Given the description of an element on the screen output the (x, y) to click on. 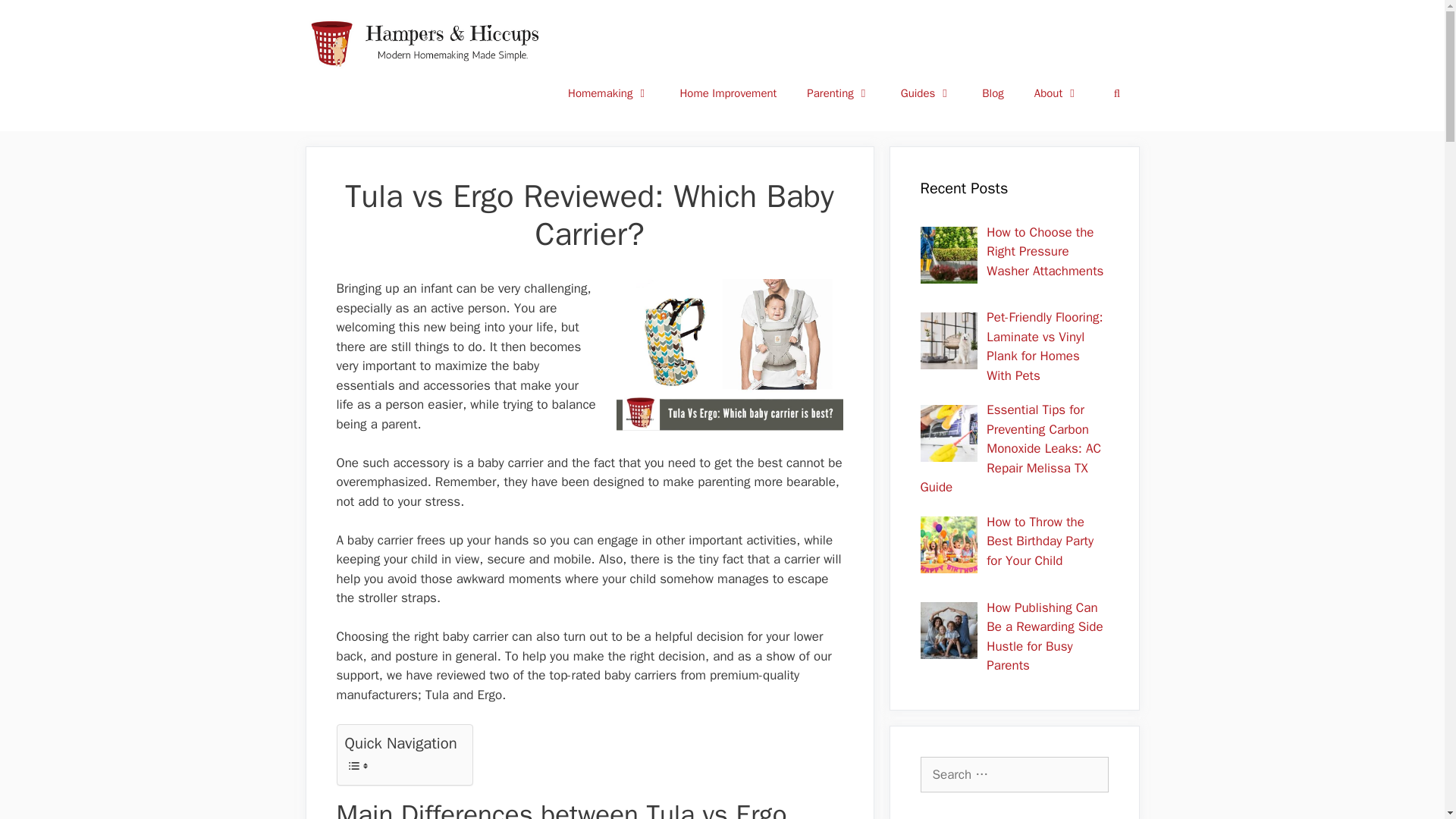
Hampers and Hiccups (429, 41)
Parenting (838, 93)
Blog (991, 93)
Guides (926, 93)
Homemaking (608, 93)
Hampers and Hiccups (429, 42)
Home Improvement (727, 93)
About (1056, 93)
